Given the description of an element on the screen output the (x, y) to click on. 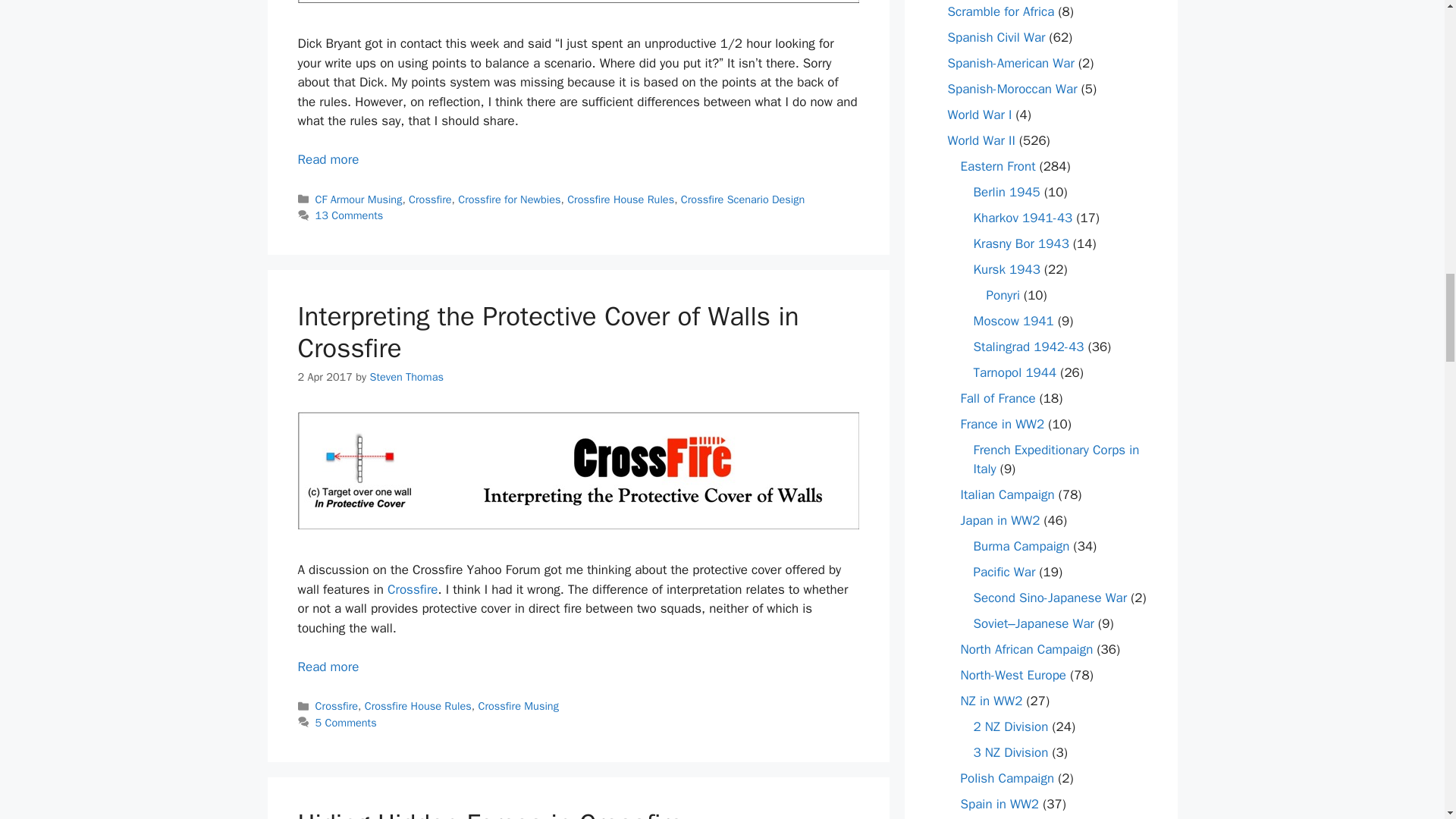
Interpreting the Protective Cover of Walls in Crossfire (327, 666)
Balagan Point System for Crossfire (327, 159)
View all posts by Steven Thomas (405, 377)
